Given the description of an element on the screen output the (x, y) to click on. 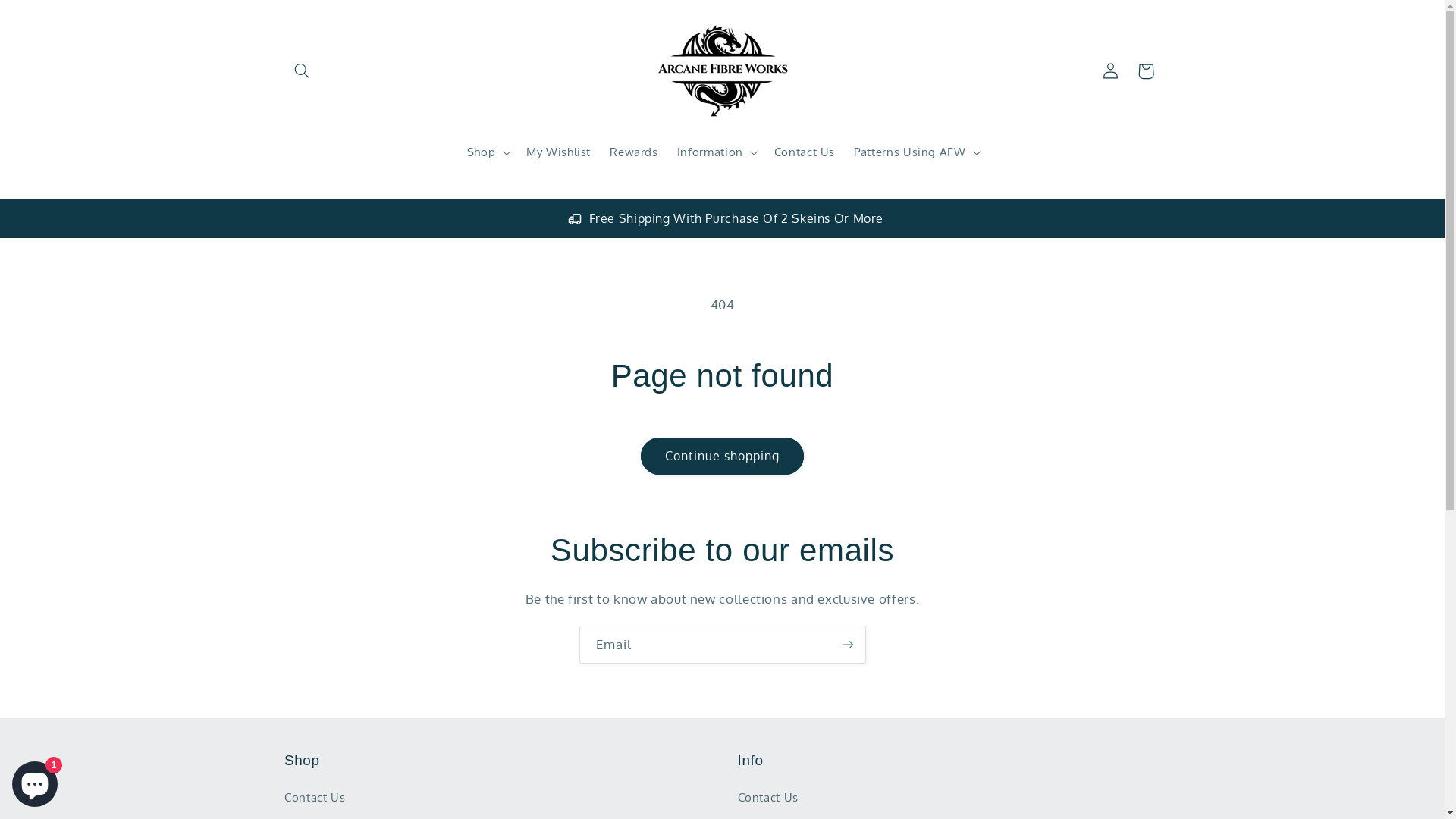
Rewards Element type: text (634, 152)
Contact Us Element type: text (767, 799)
Continue shopping Element type: text (721, 455)
Shopify online store chat Element type: hover (34, 780)
My Wishlist Element type: text (558, 152)
Contact Us Element type: text (314, 799)
Contact Us Element type: text (804, 152)
Cart Element type: text (1145, 70)
Log in Element type: text (1110, 70)
